Given the description of an element on the screen output the (x, y) to click on. 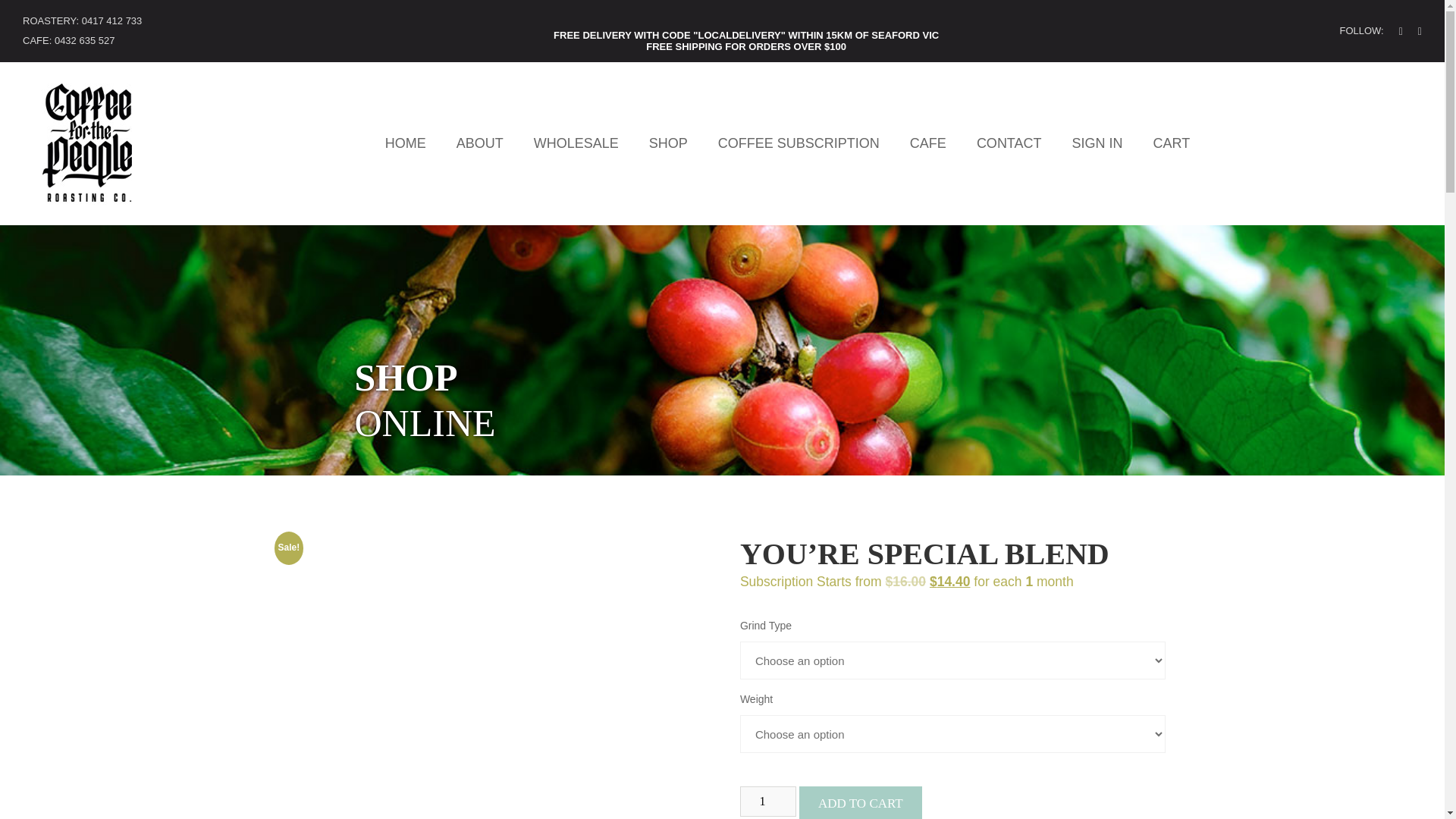
ADD TO CART (860, 802)
CAFE (928, 143)
COFFEE SUBSCRIPTION (798, 143)
SIGN IN (1096, 143)
0417 412 733 (111, 20)
1 (767, 801)
CART (1172, 143)
Coffee For The People Roasting Co. (87, 203)
Qty (767, 801)
SHOP (668, 143)
